Given the description of an element on the screen output the (x, y) to click on. 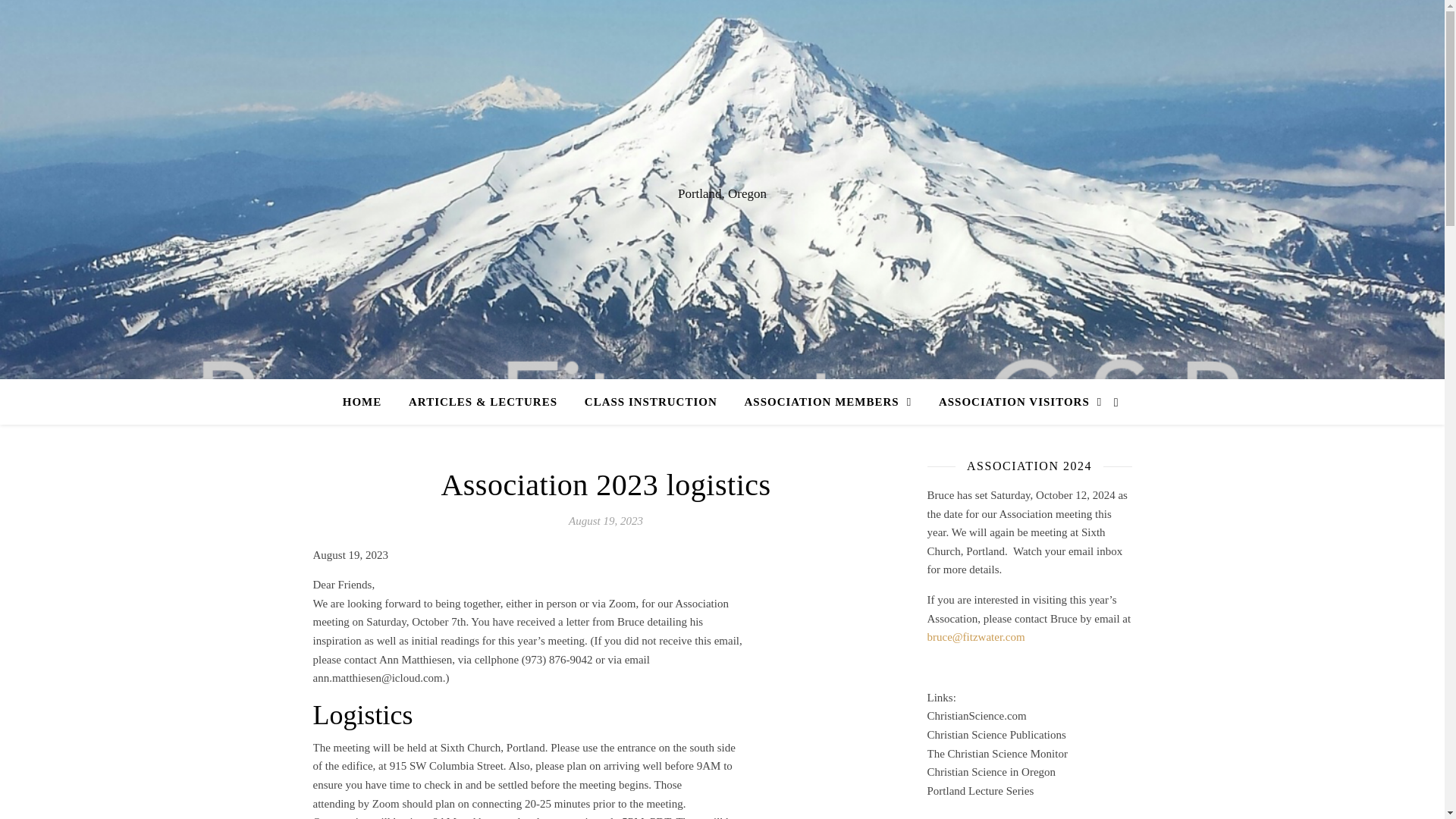
The Christian Science Monitor (996, 753)
Portland Lecture Series (979, 790)
Christian Science in Oregon (990, 771)
Christian Science Publications (995, 734)
ChristianScience.com (976, 715)
ASSOCIATION VISITORS (1014, 402)
ASSOCIATION MEMBERS (828, 402)
CLASS INSTRUCTION (650, 402)
HOME (368, 402)
